Given the description of an element on the screen output the (x, y) to click on. 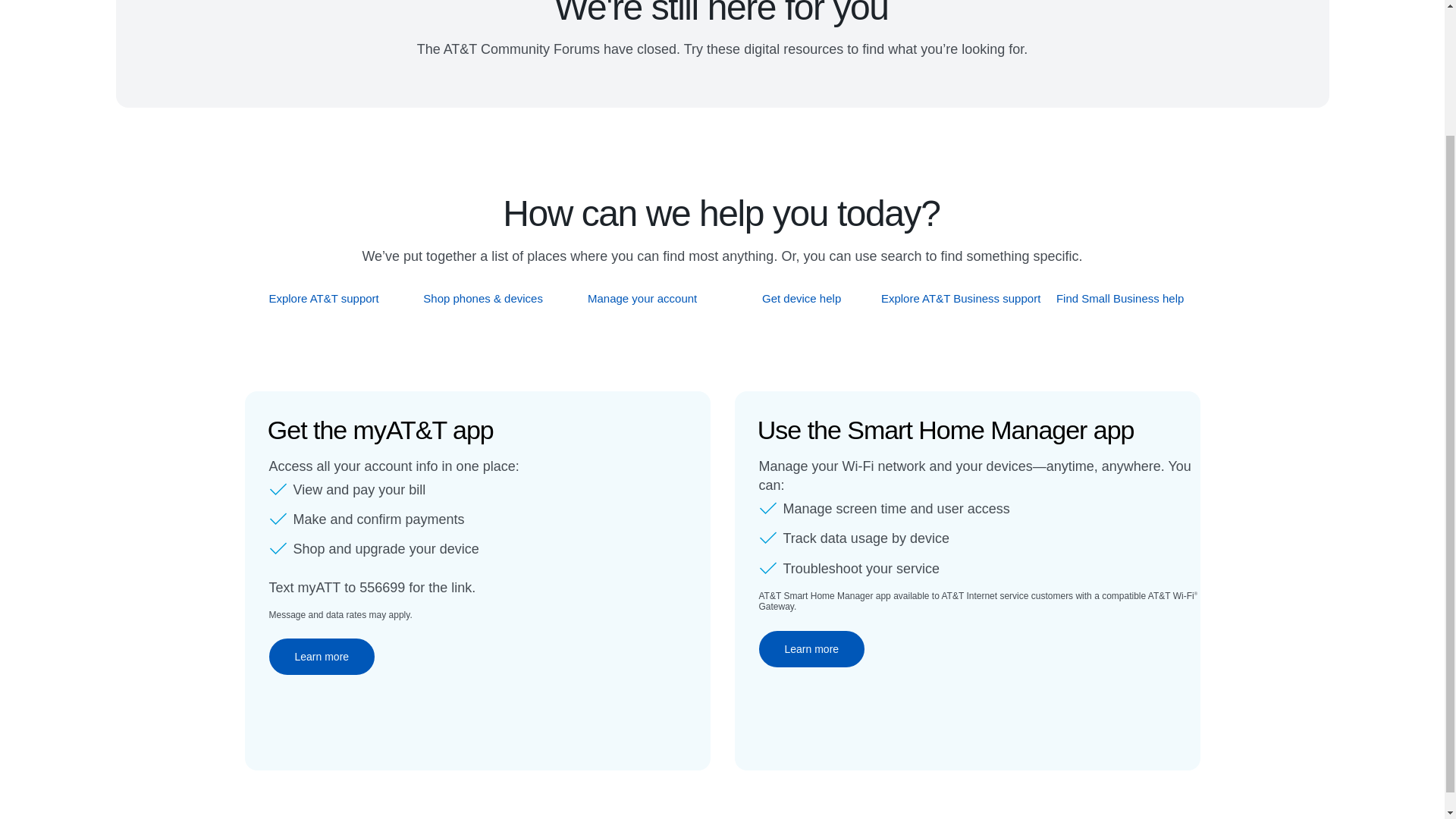
Find Small Business help (1121, 298)
Learn more (811, 648)
Manage your account (642, 298)
Get device help (801, 298)
Learn more (320, 656)
